Given the description of an element on the screen output the (x, y) to click on. 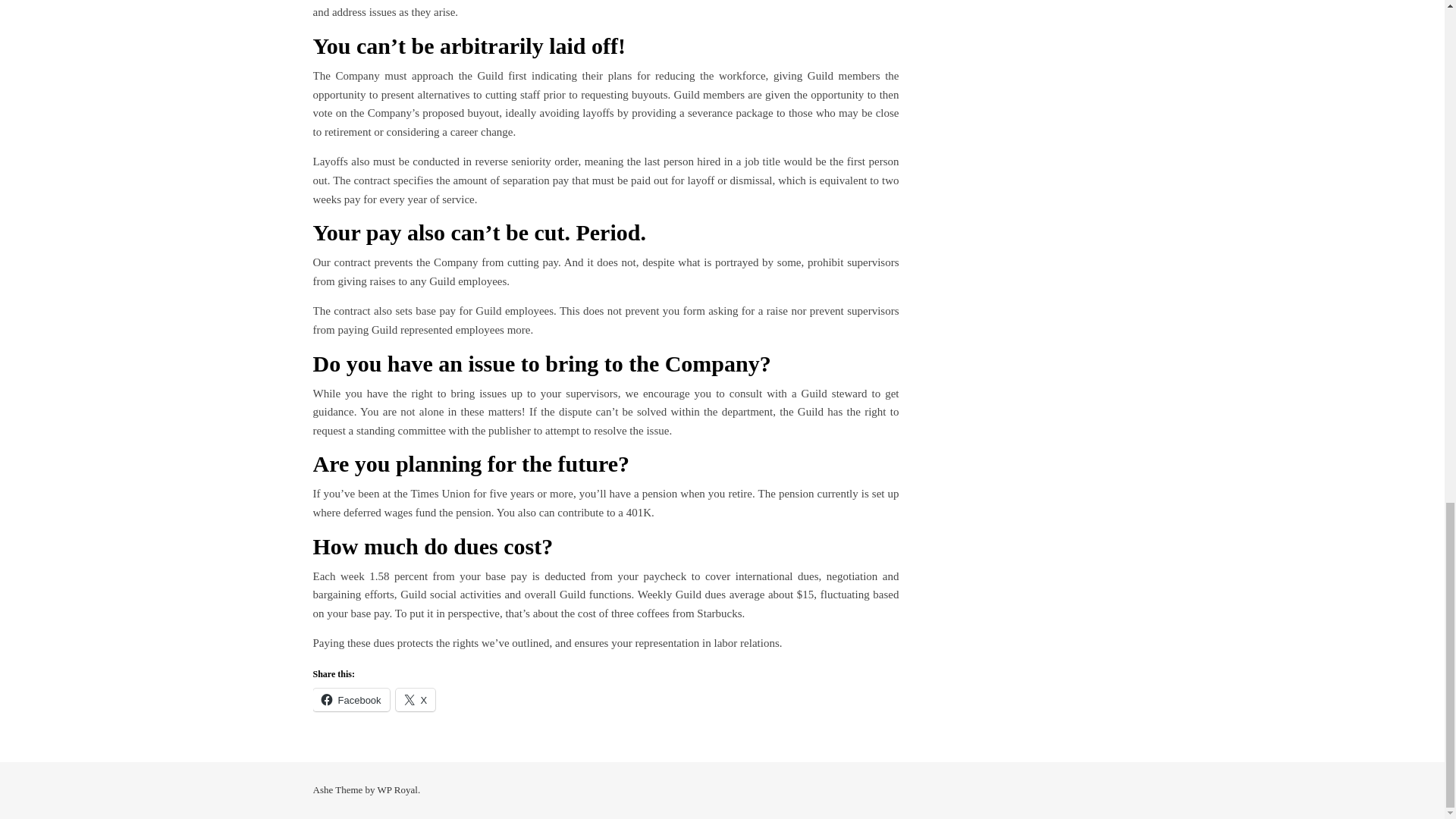
Click to share on Facebook (350, 699)
X (415, 699)
Click to share on X (415, 699)
WP Royal (397, 789)
Facebook (350, 699)
